Given the description of an element on the screen output the (x, y) to click on. 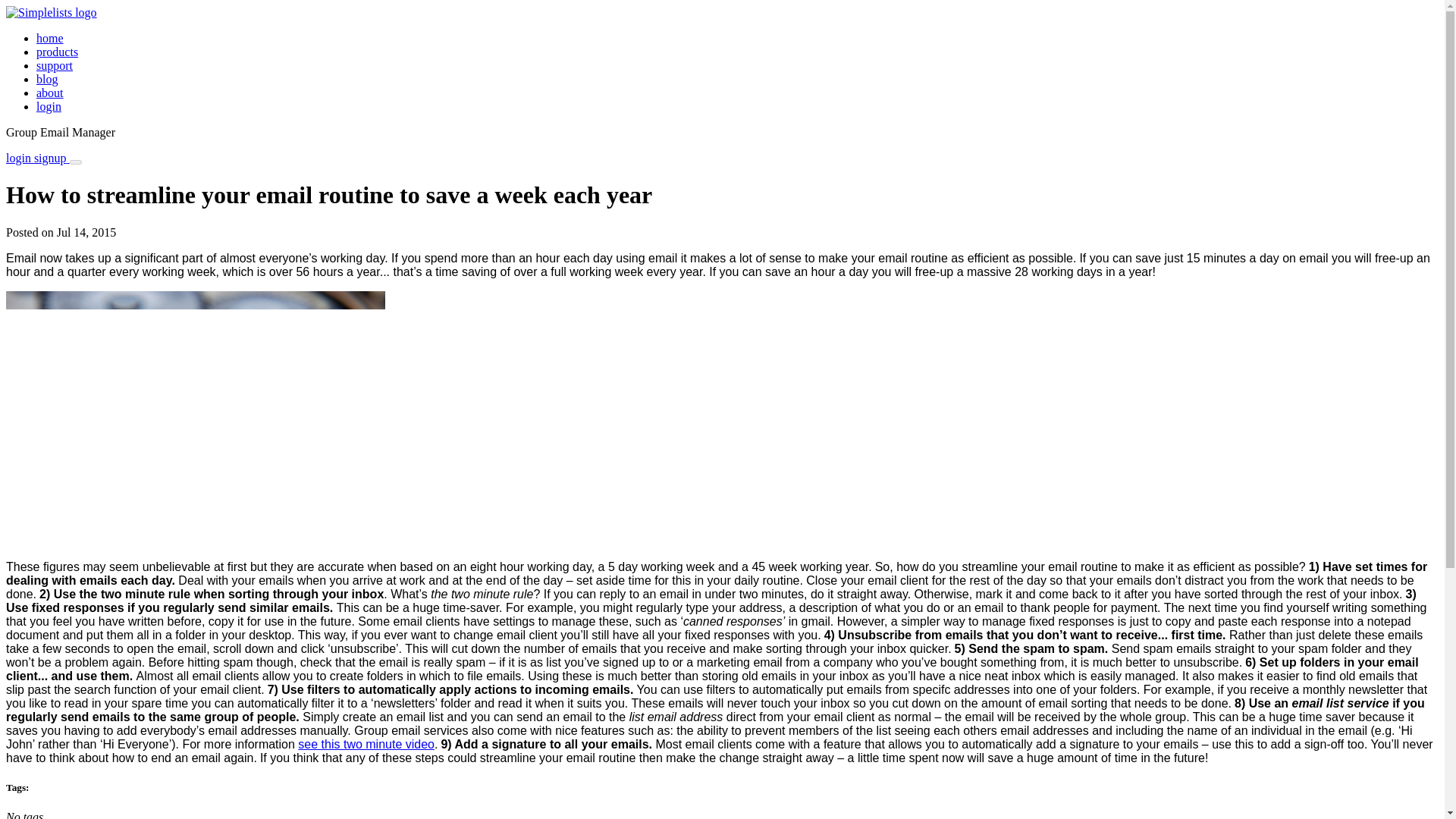
products (57, 51)
support (54, 65)
blog (47, 78)
about (50, 92)
see this two minute video (365, 744)
home (50, 38)
login (48, 106)
login (19, 157)
signup (51, 157)
